Given the description of an element on the screen output the (x, y) to click on. 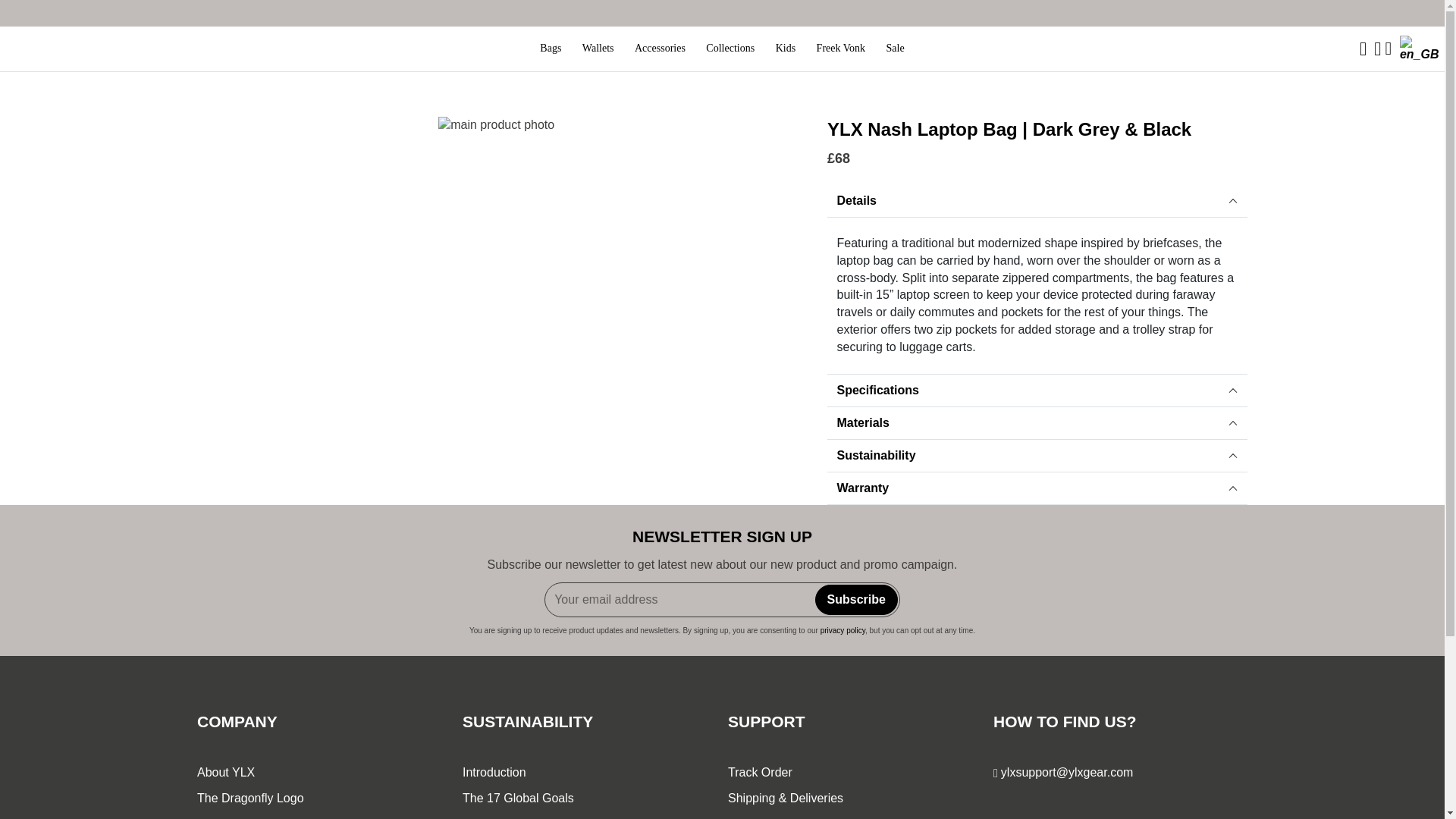
Sites Switcher (1419, 48)
Accessories (660, 48)
Subscribe (856, 599)
Wallets (598, 48)
